Given the description of an element on the screen output the (x, y) to click on. 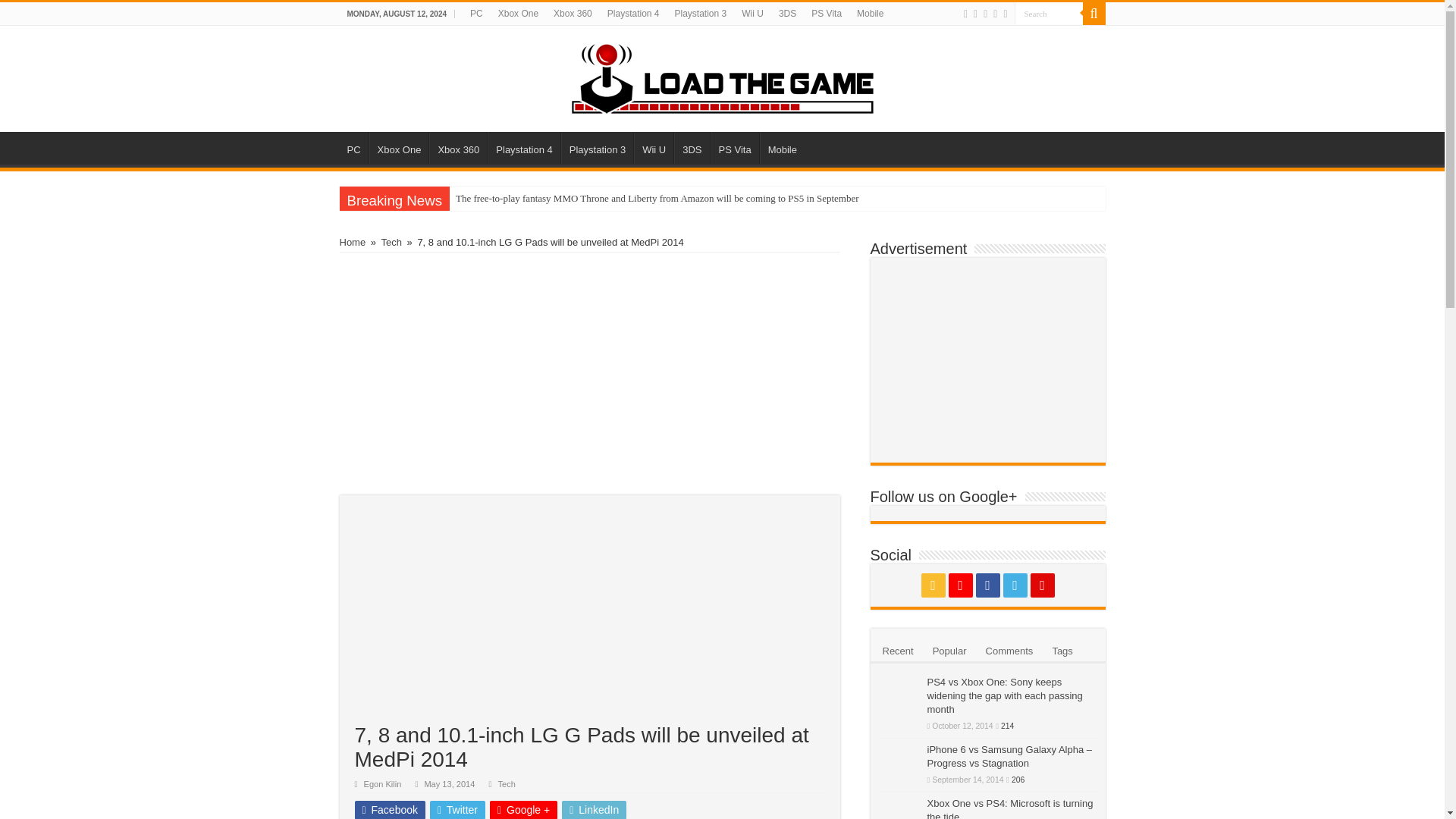
3DS (691, 147)
PS Vita (825, 13)
PC (476, 13)
Xbox 360 (457, 147)
Load the Game (721, 75)
Wii U (752, 13)
Playstation 3 (700, 13)
Xbox 360 (572, 13)
